Given the description of an element on the screen output the (x, y) to click on. 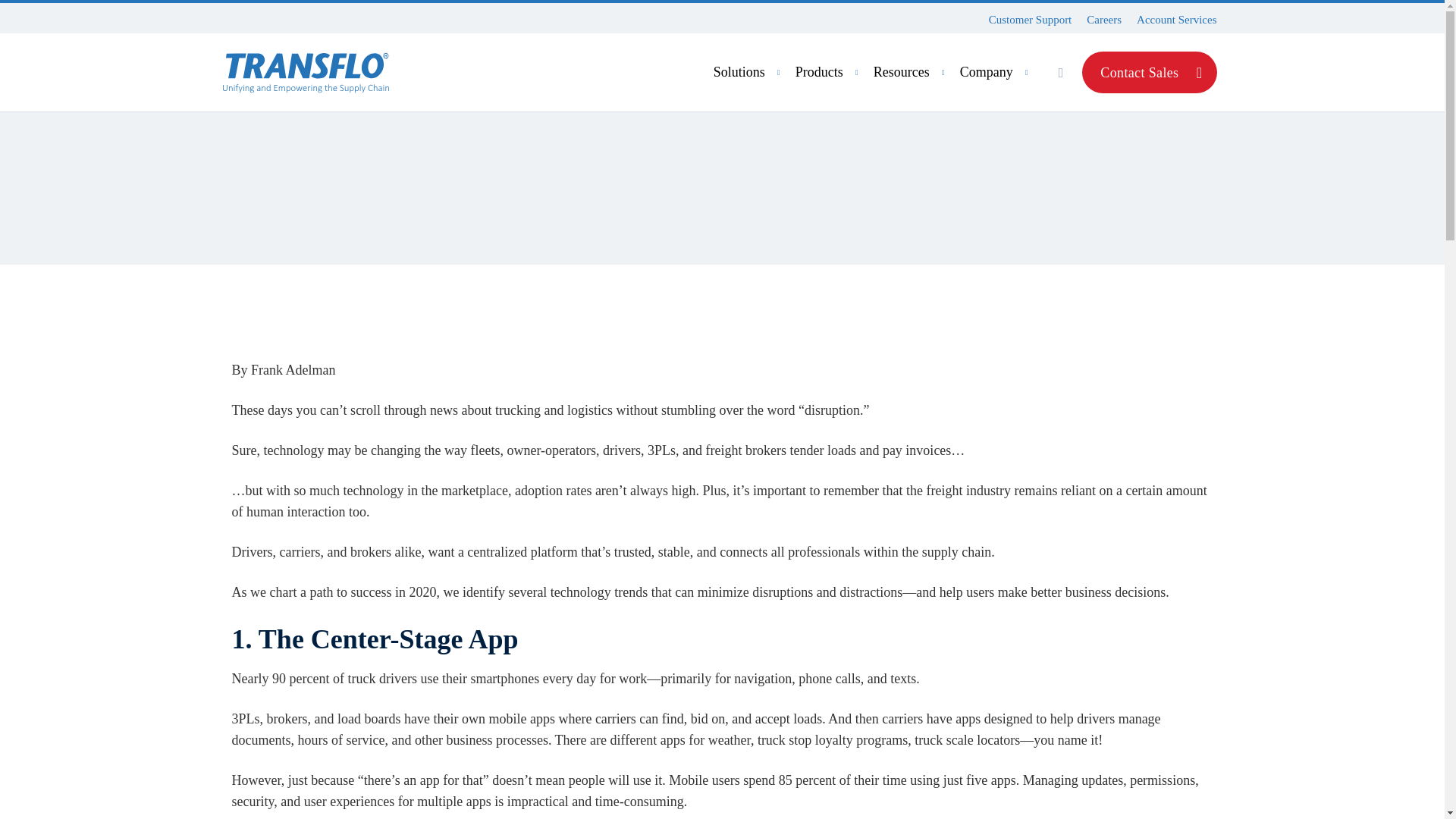
Account Services (1176, 19)
Careers (1103, 19)
Resources (911, 72)
Solutions (748, 72)
Customer Support (1029, 19)
Contact Sales (1148, 72)
